Given the description of an element on the screen output the (x, y) to click on. 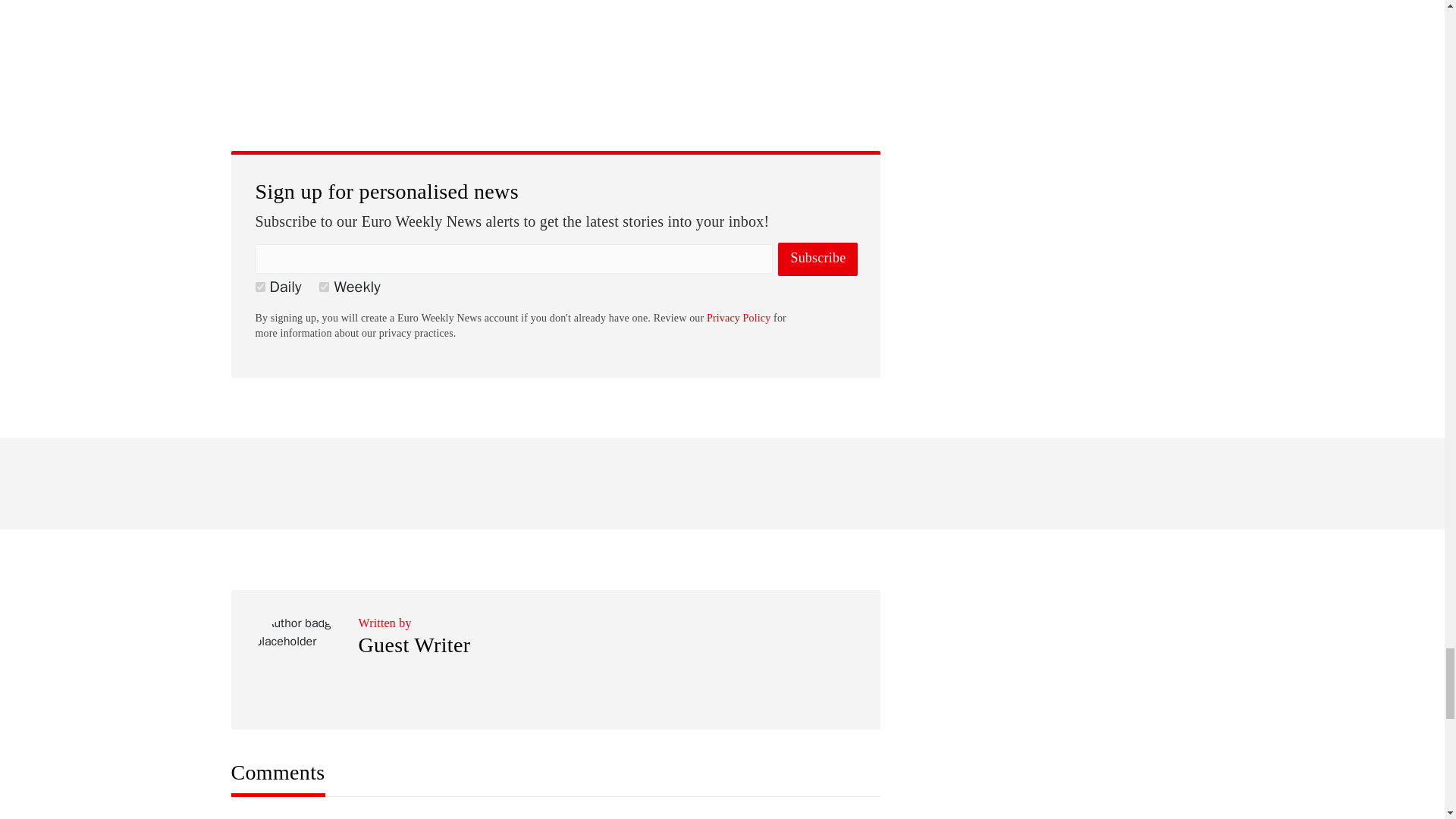
6 (259, 286)
Subscribe (817, 259)
7 (323, 286)
